Given the description of an element on the screen output the (x, y) to click on. 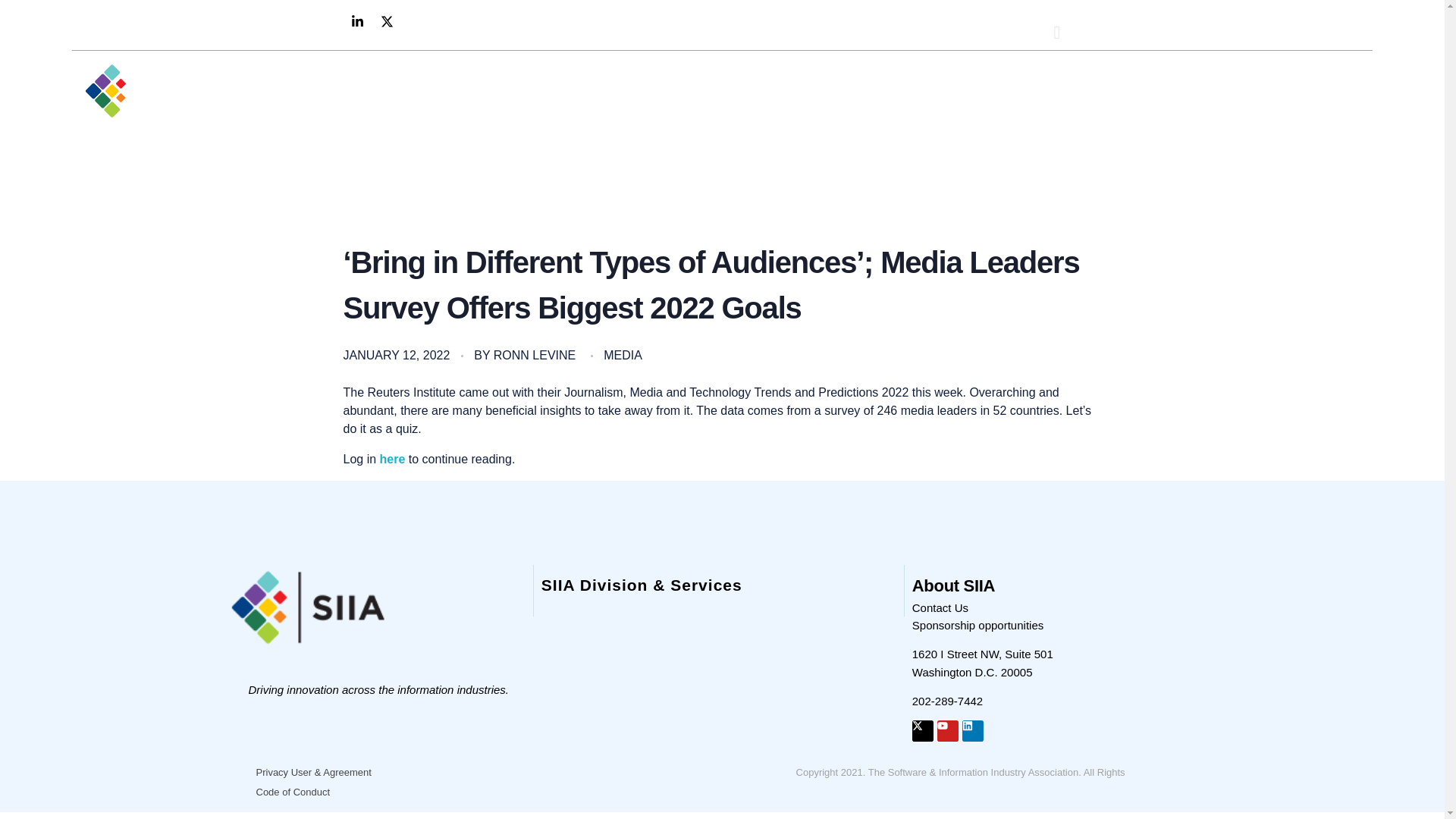
SIIA (155, 90)
SIIA (96, 131)
View all posts in Media (623, 355)
View all posts by Ronn Levine (534, 354)
SIIA (96, 131)
